Given the description of an element on the screen output the (x, y) to click on. 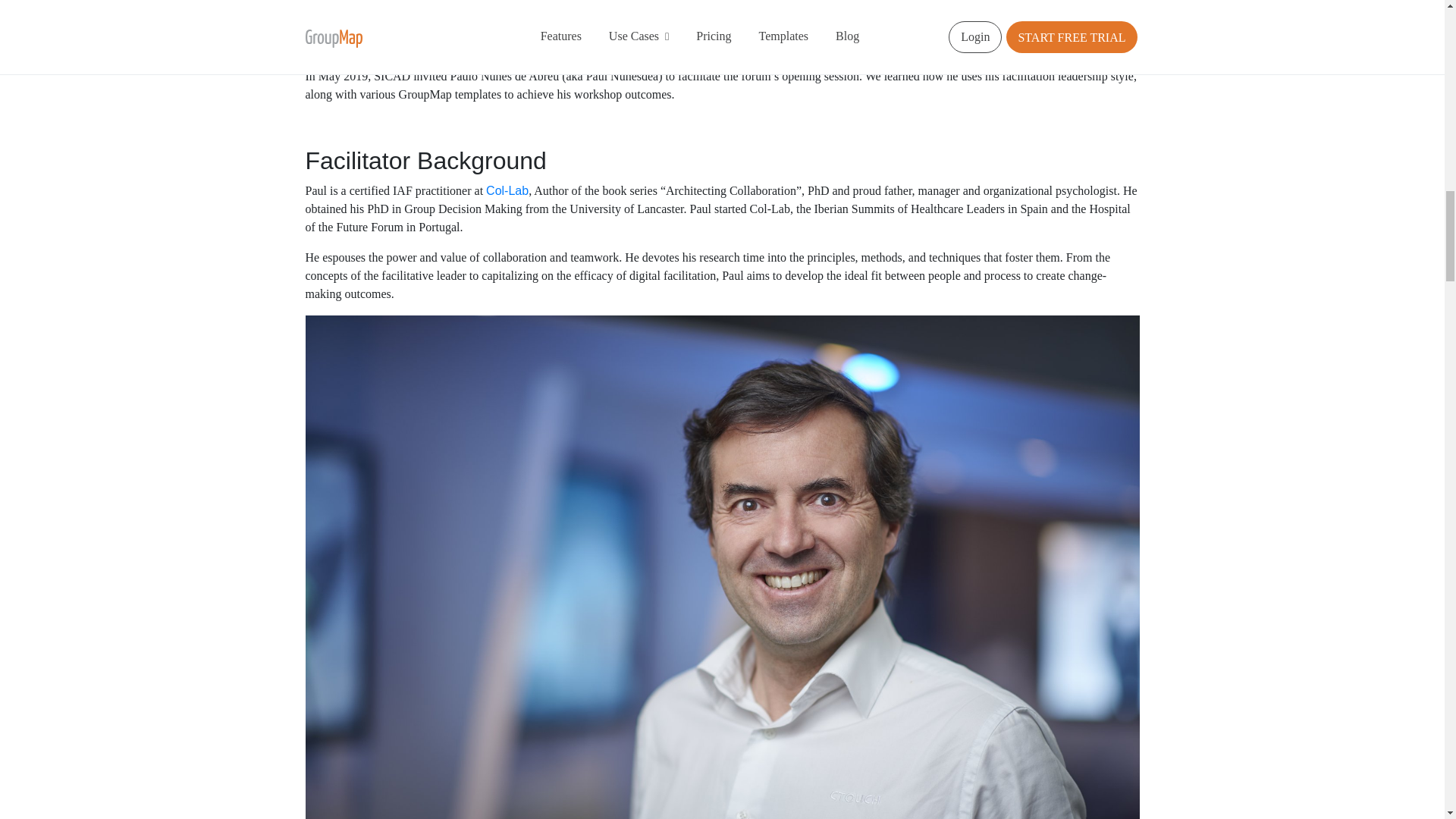
Col-Lab (507, 190)
